Given the description of an element on the screen output the (x, y) to click on. 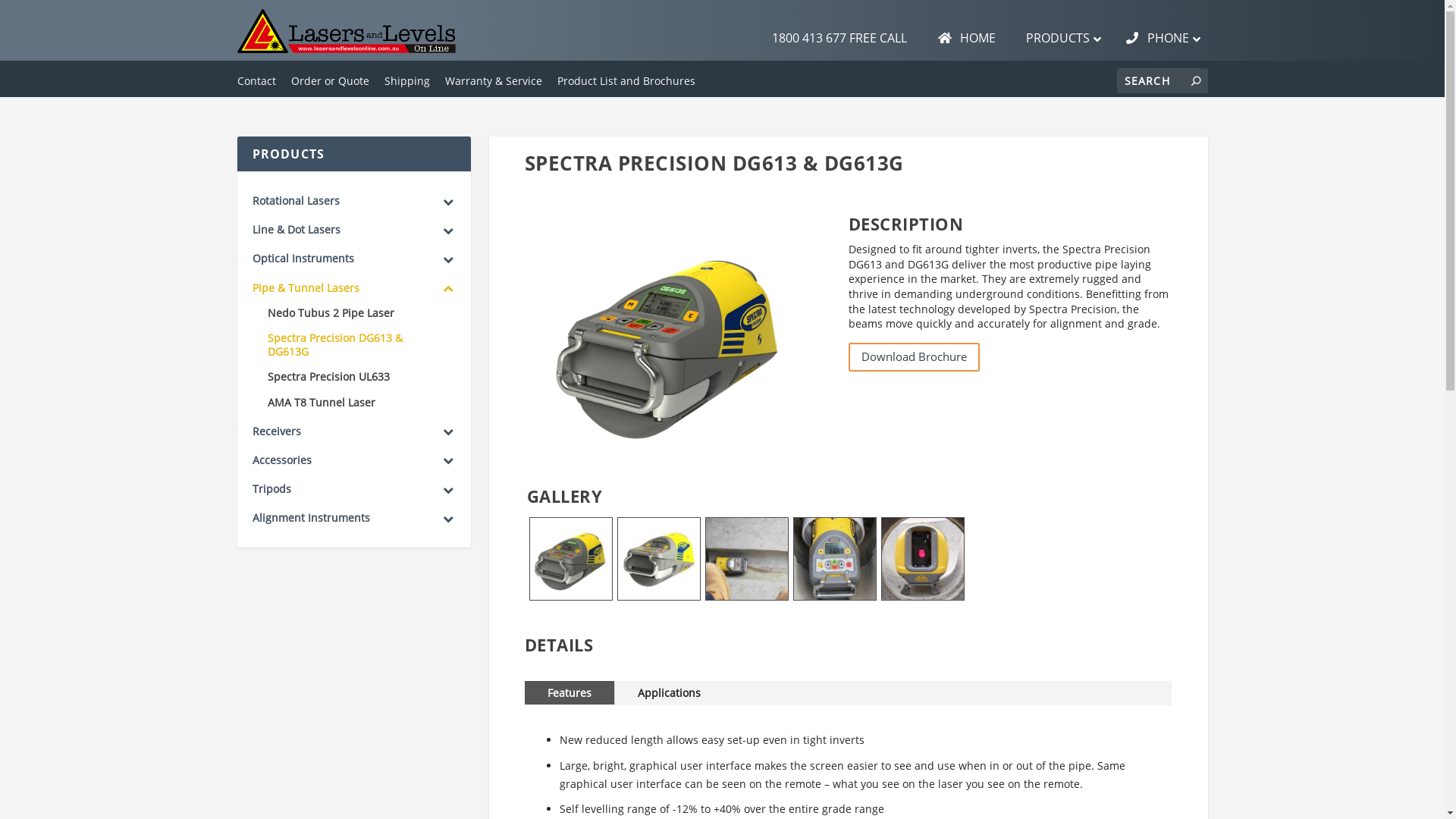
dg613g_1 Element type: hover (570, 595)
dg613_app_2 Element type: hover (834, 595)
Search for: Element type: hover (1161, 80)
Shipping Element type: text (406, 81)
Download Brochure Element type: text (913, 357)
Line & Dot Lasers Element type: text (353, 229)
dg613_app_1 Element type: hover (922, 595)
Receivers Element type: text (353, 431)
Applications Element type: text (669, 692)
dg613 Element type: hover (658, 595)
AMA T8 Tunnel Laser Element type: text (353, 403)
Alignment Instruments Element type: text (353, 517)
Warranty & Service Element type: text (492, 81)
HOME Element type: text (966, 37)
Rotational Lasers Element type: text (353, 200)
Pipe & Tunnel Lasers Element type: text (353, 287)
Nedo Tubus 2 Pipe Laser Element type: text (353, 314)
Spectra Precision DG613 & DG613G Element type: text (353, 346)
Contact Element type: text (255, 81)
Order or Quote Element type: text (330, 81)
Product List and Brochures Element type: text (625, 81)
Features Element type: text (569, 692)
dg613_app_3 Element type: hover (746, 595)
1800 413 677 FREE CALL Element type: text (839, 37)
Optical Instruments Element type: text (353, 258)
PRODUCTS Element type: text (1059, 37)
Accessories Element type: text (353, 459)
Tripods Element type: text (353, 488)
Spectra Precision UL633 Element type: text (353, 378)
